Given the description of an element on the screen output the (x, y) to click on. 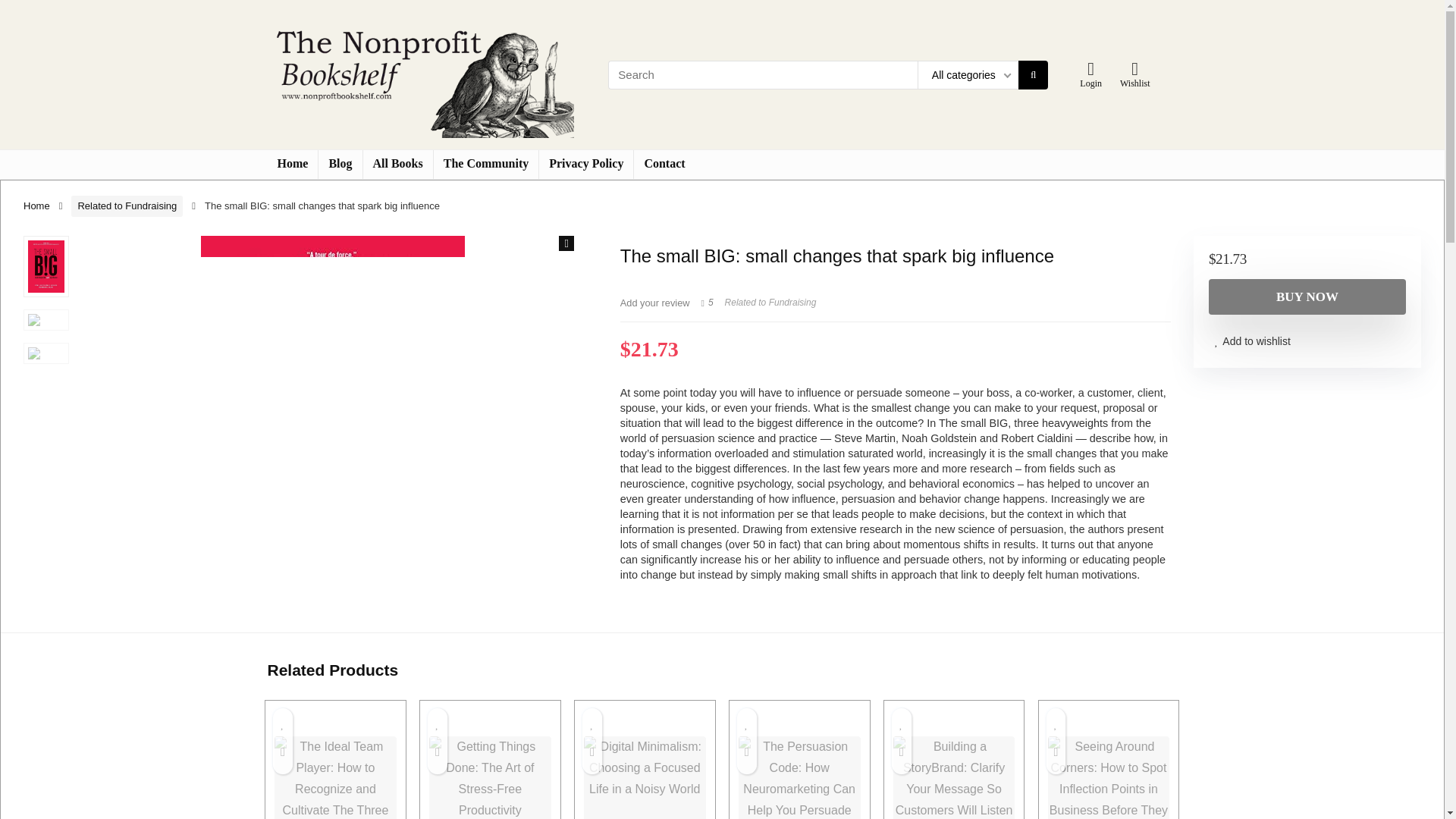
Add your review (655, 302)
Home (291, 164)
Related to Fundraising (127, 206)
The Community (485, 164)
Blog (339, 164)
Related to Fundraising (770, 302)
Contact (663, 164)
All Books (397, 164)
BUY NOW (1307, 296)
View all posts in Related to Fundraising (770, 302)
Privacy Policy (585, 164)
Home (36, 205)
